Given the description of an element on the screen output the (x, y) to click on. 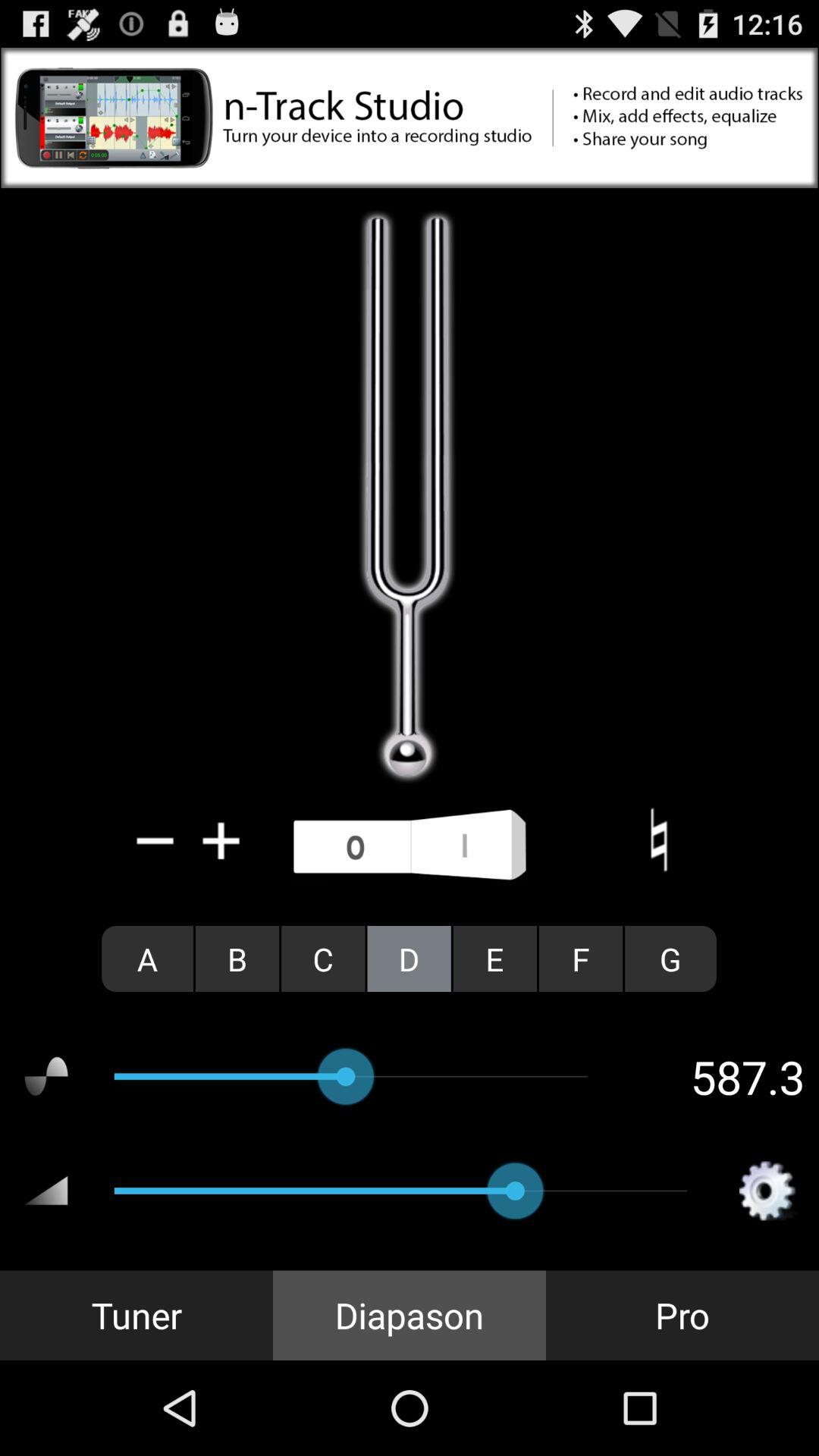
choose item to the left of f radio button (494, 958)
